Given the description of an element on the screen output the (x, y) to click on. 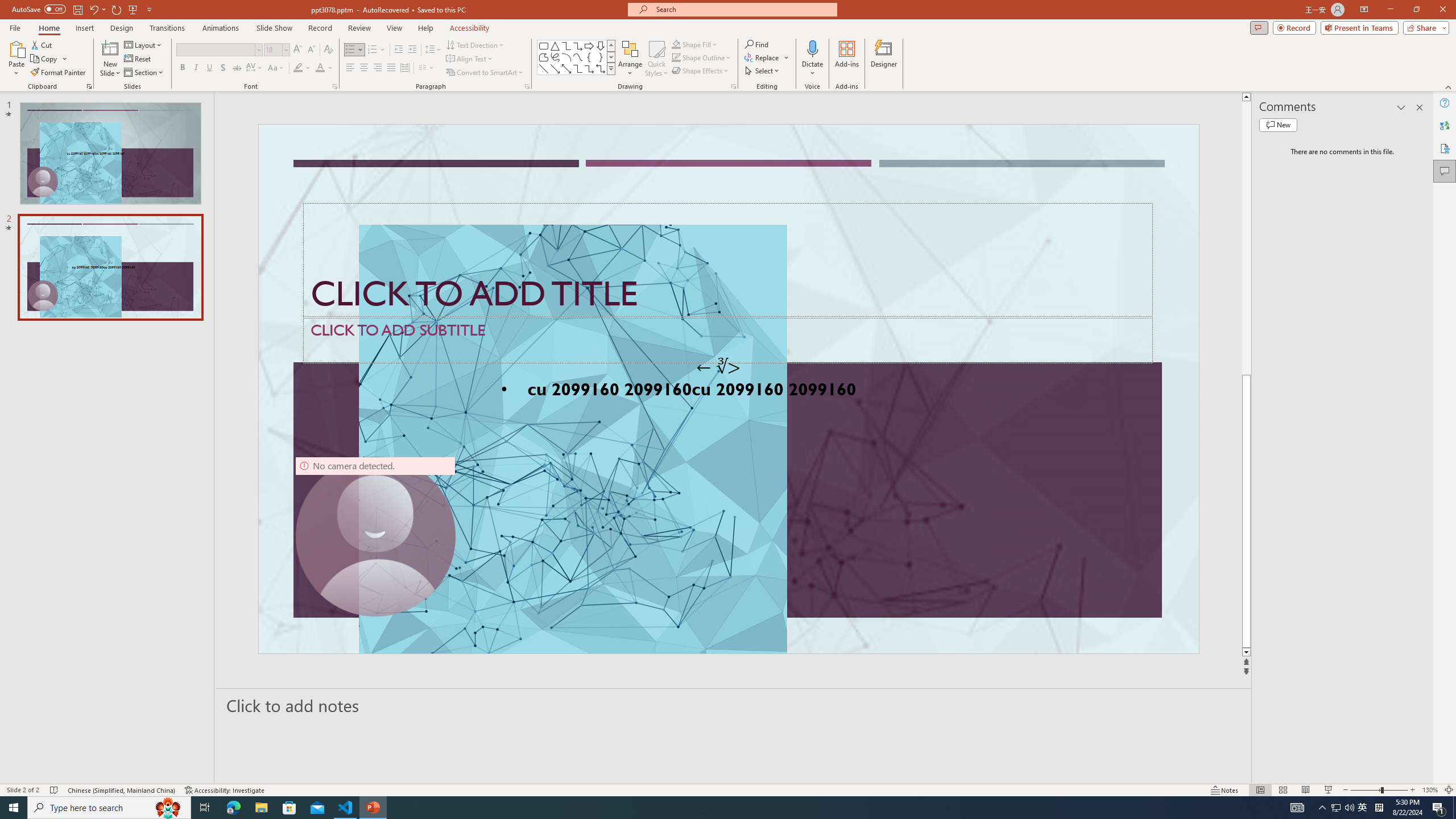
Class: NetUIImage (610, 68)
Quick Access Toolbar (82, 9)
Normal (1260, 790)
File Tab (15, 27)
Animations (220, 28)
Slide (110, 267)
Select (762, 69)
Notes  (1225, 790)
Font... (334, 85)
Distributed (404, 67)
Copy (45, 58)
Underline (209, 67)
Connector: Elbow Arrow (589, 68)
Align Left (349, 67)
